Given the description of an element on the screen output the (x, y) to click on. 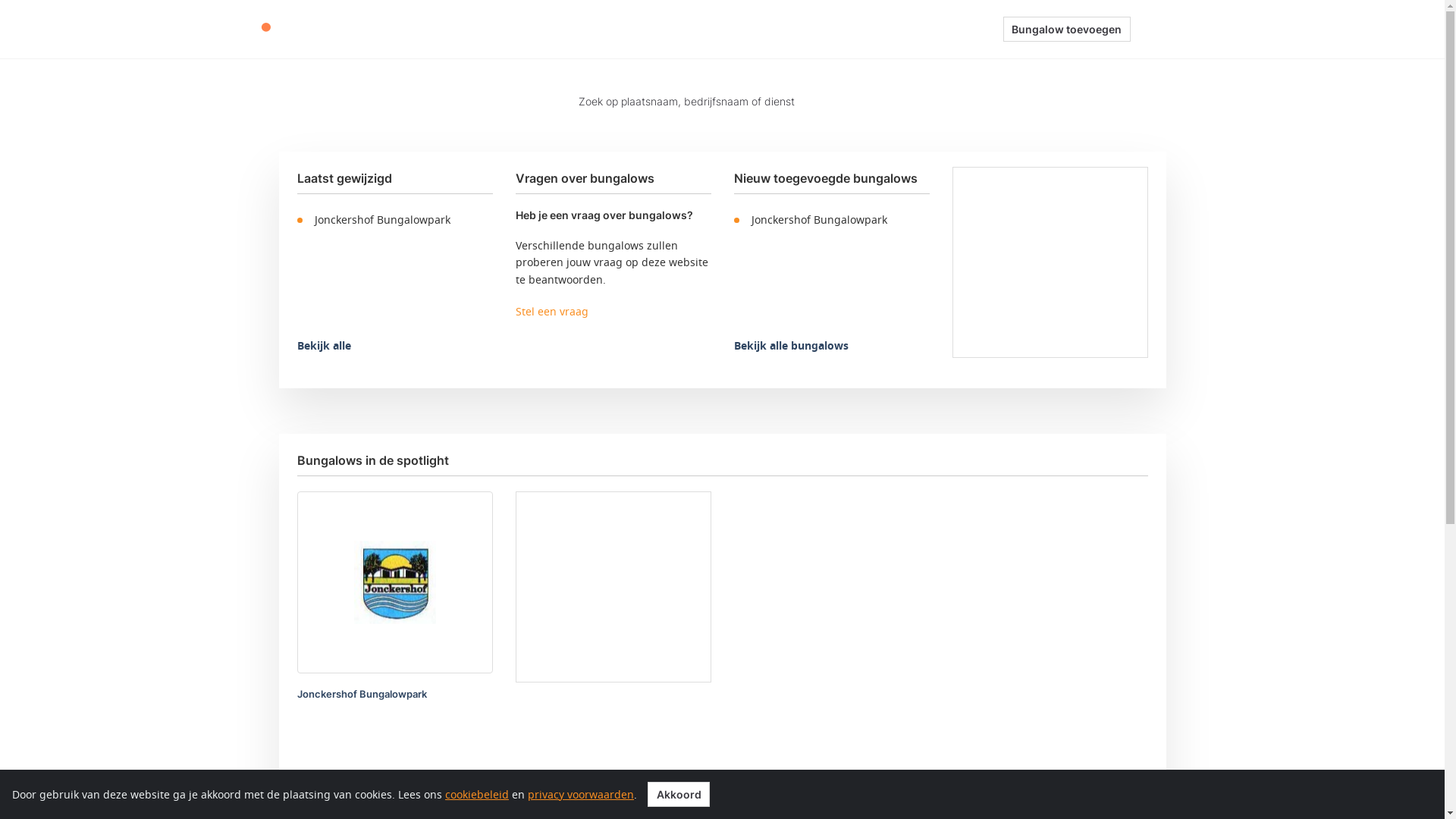
Stel een vraag Element type: text (551, 311)
Inloggen Element type: text (1178, 29)
Bekijk alle Element type: text (324, 345)
Akkoord Element type: text (678, 793)
privacy voorwaarden Element type: text (580, 794)
Bekijk alle bungalows Element type: text (791, 345)
Advertisement Element type: hover (1049, 262)
Advertisement Element type: hover (612, 586)
Jonckershof Bungalowpark Element type: text (831, 219)
Bungalow toevoegen Element type: text (1065, 29)
cookiebeleid Element type: text (476, 794)
Jonckershof Bungalowpark Element type: text (394, 219)
Jonckershof Bungalowpark Element type: text (361, 693)
Bungalow zoeken Element type: text (704, 29)
